Given the description of an element on the screen output the (x, y) to click on. 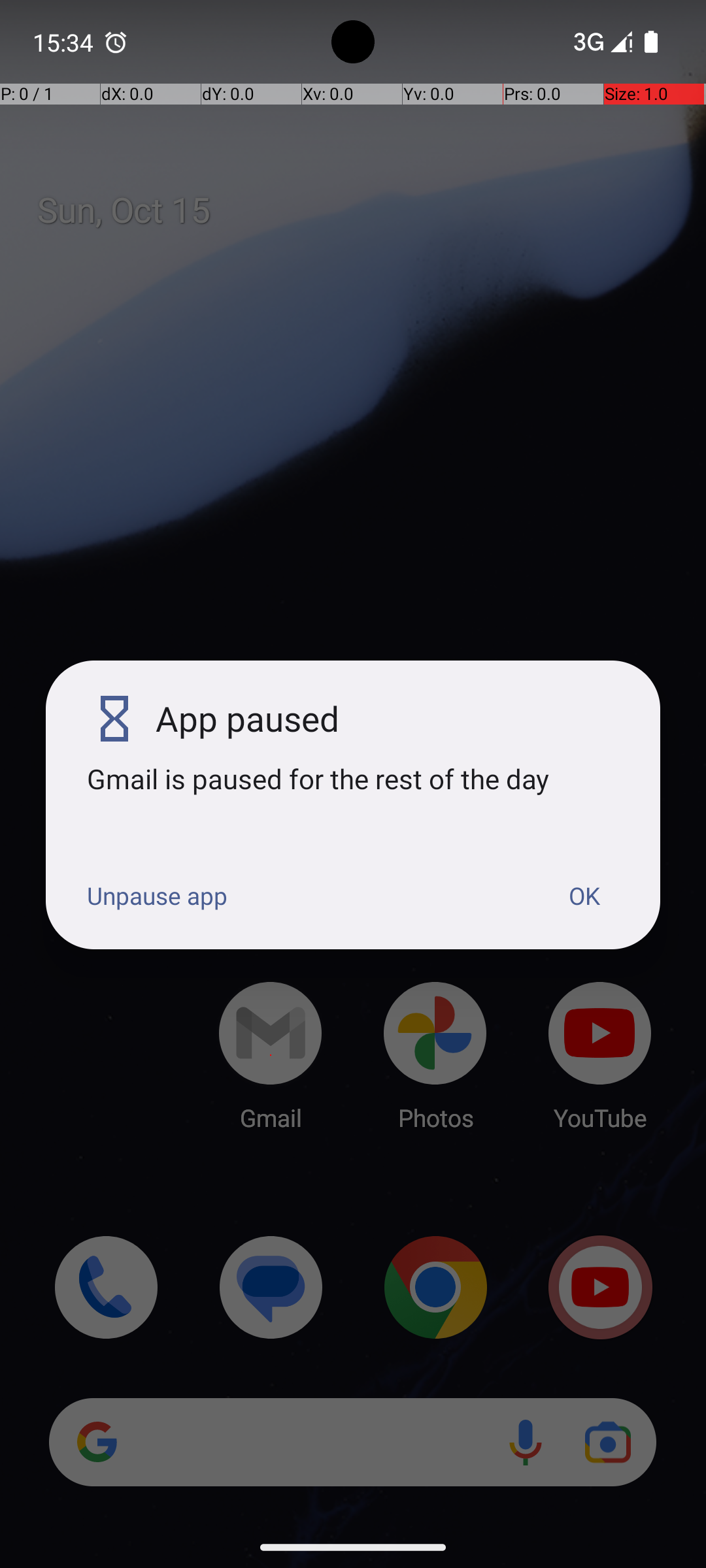
‎App paused Element type: android.widget.TextView (387, 718)
‎Gmail is paused for the rest of the day Element type: android.widget.TextView (352, 778)
‎Unpause app Element type: android.widget.Button (156, 895)
